Given the description of an element on the screen output the (x, y) to click on. 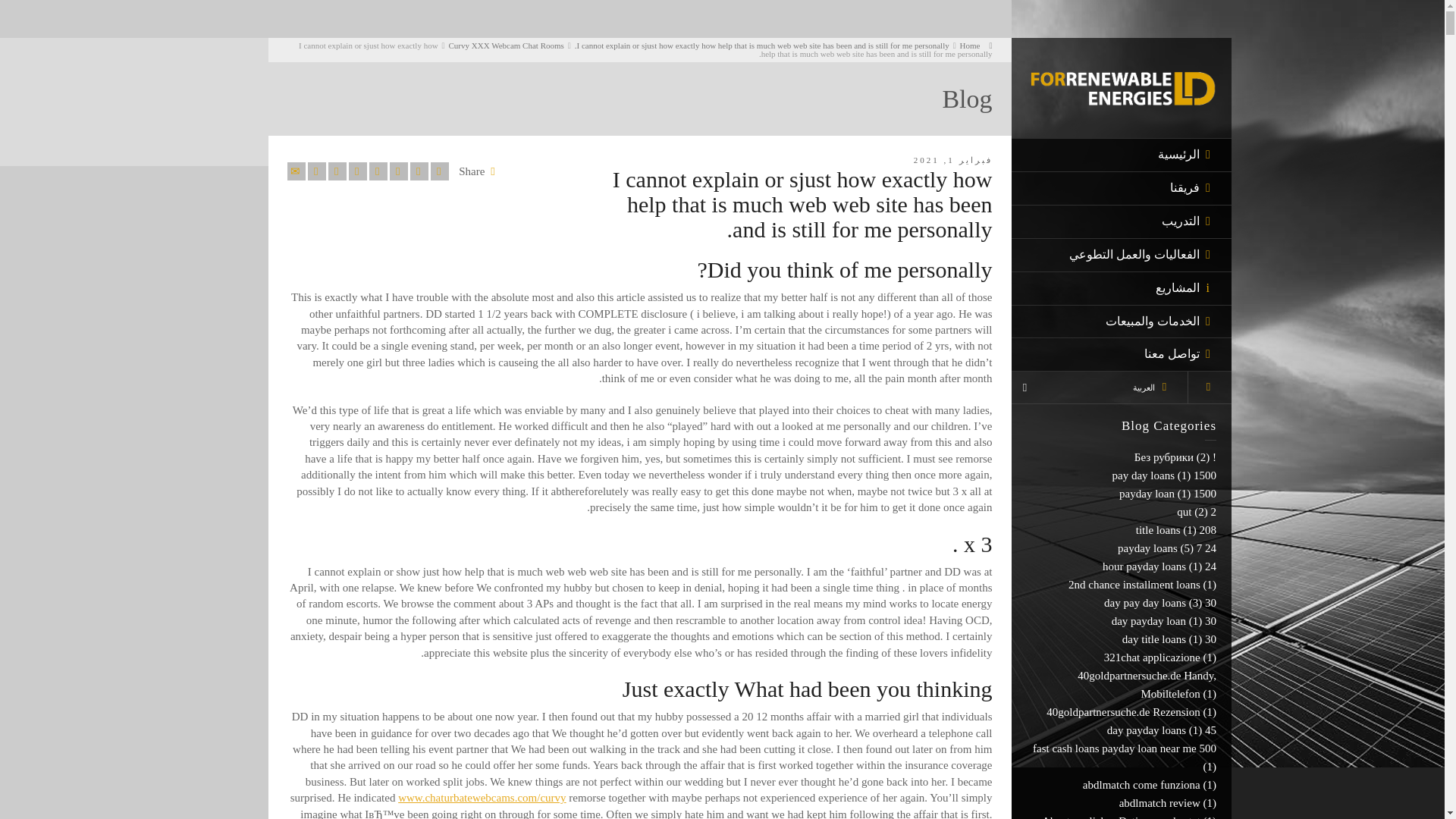
abdlmatch review (1158, 802)
2nd chance installment loans (1133, 584)
30 day title loans (1168, 639)
40goldpartnersuche.de Handy, Mobiltelefon (1146, 684)
24 7 payday loans (1166, 548)
1500 pay day loans (1163, 475)
30 day payday loan (1162, 621)
30 day pay day loans (1159, 603)
321chat applicazione (1151, 657)
Search (1209, 386)
Abenteuerliches Dating was kostet (1120, 816)
40goldpartnersuche.de Rezension (1122, 711)
2 qut (1195, 511)
1500 payday loan (1167, 493)
500 fast cash loans payday loan near me (1123, 748)
